Given the description of an element on the screen output the (x, y) to click on. 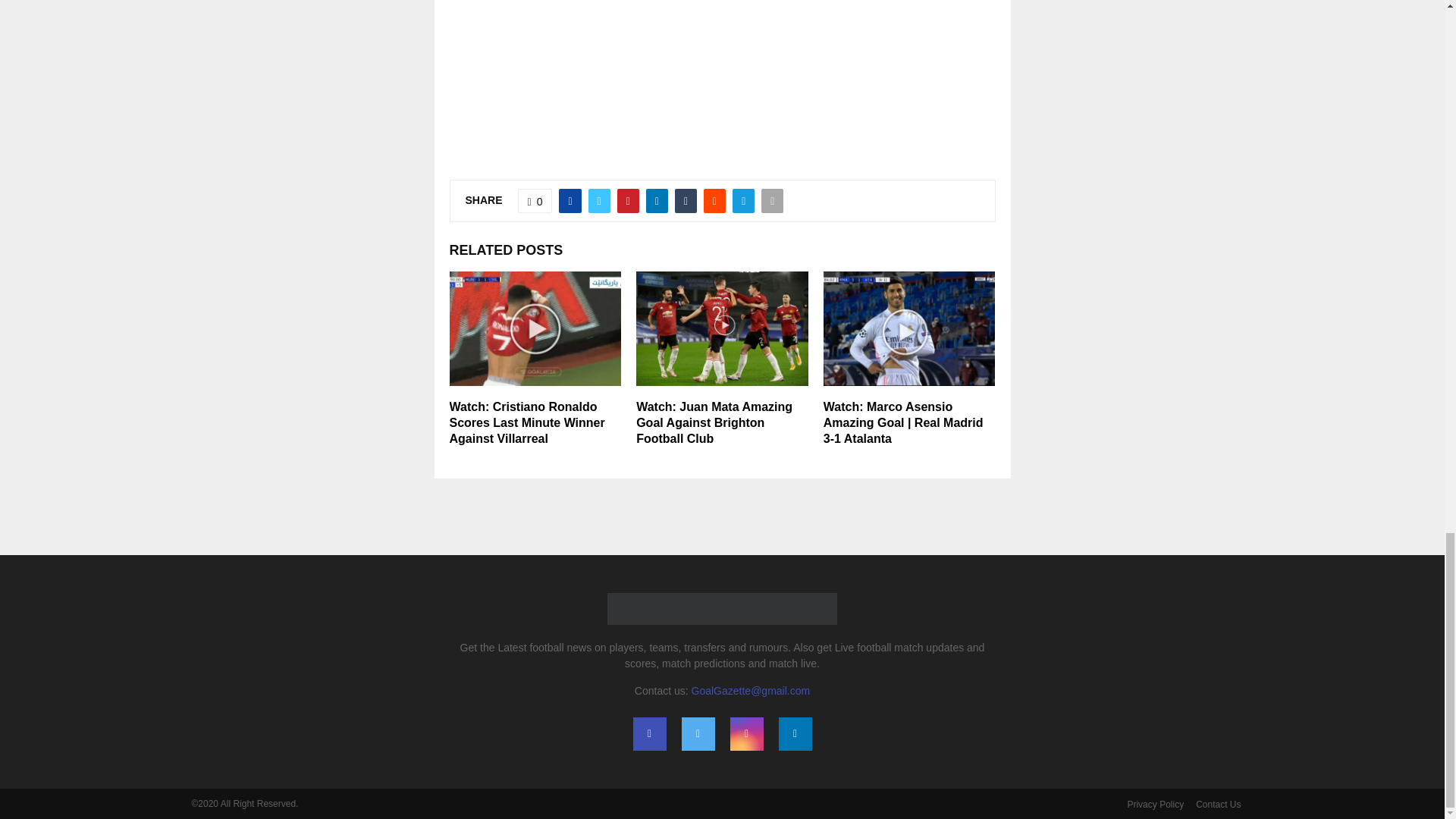
Watch: Juan Mata Amazing Goal Against Brighton Football Club (714, 422)
0 (535, 200)
YouTube video player (721, 65)
Facebook (648, 734)
Like (535, 200)
Twitter (697, 734)
Instagram (745, 734)
